Given the description of an element on the screen output the (x, y) to click on. 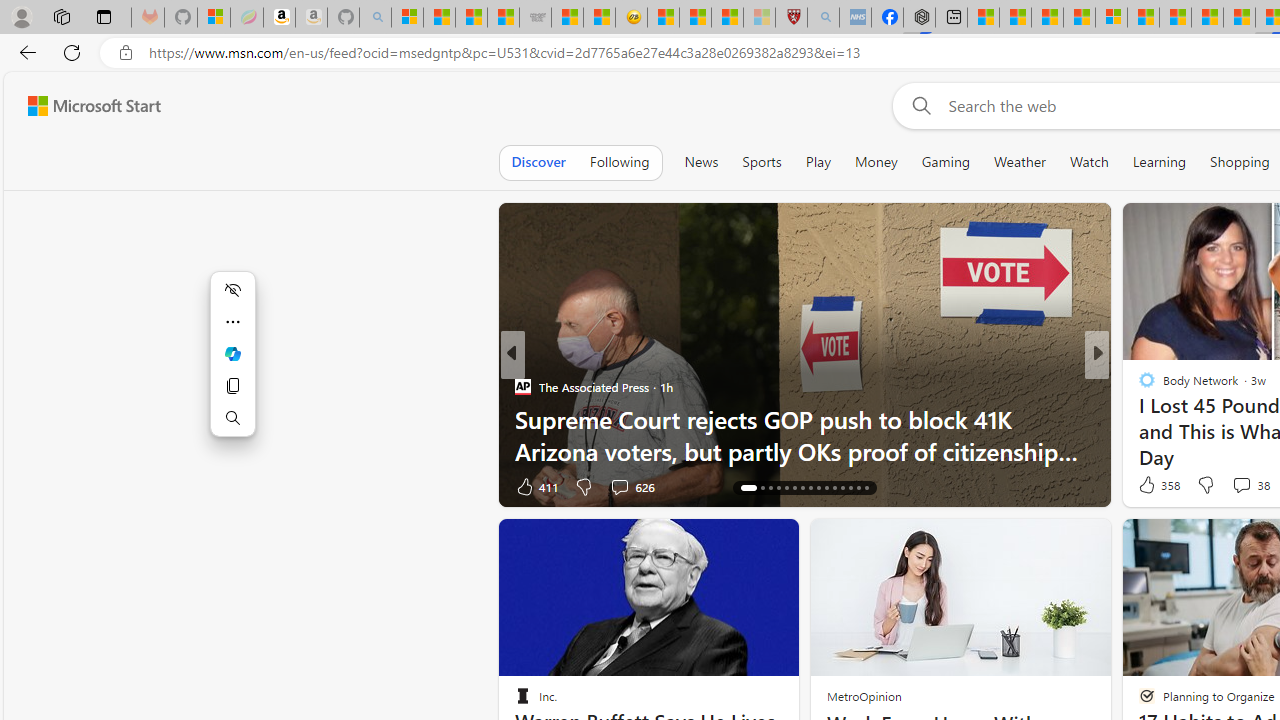
View comments 5 Comment (1234, 486)
View comments 104 Comment (1247, 486)
AutomationID: tab-18 (769, 487)
MarketBeat (1138, 418)
Mini menu on text selection (232, 365)
AutomationID: tab-17 (761, 487)
Mini menu on text selection (232, 354)
